Given the description of an element on the screen output the (x, y) to click on. 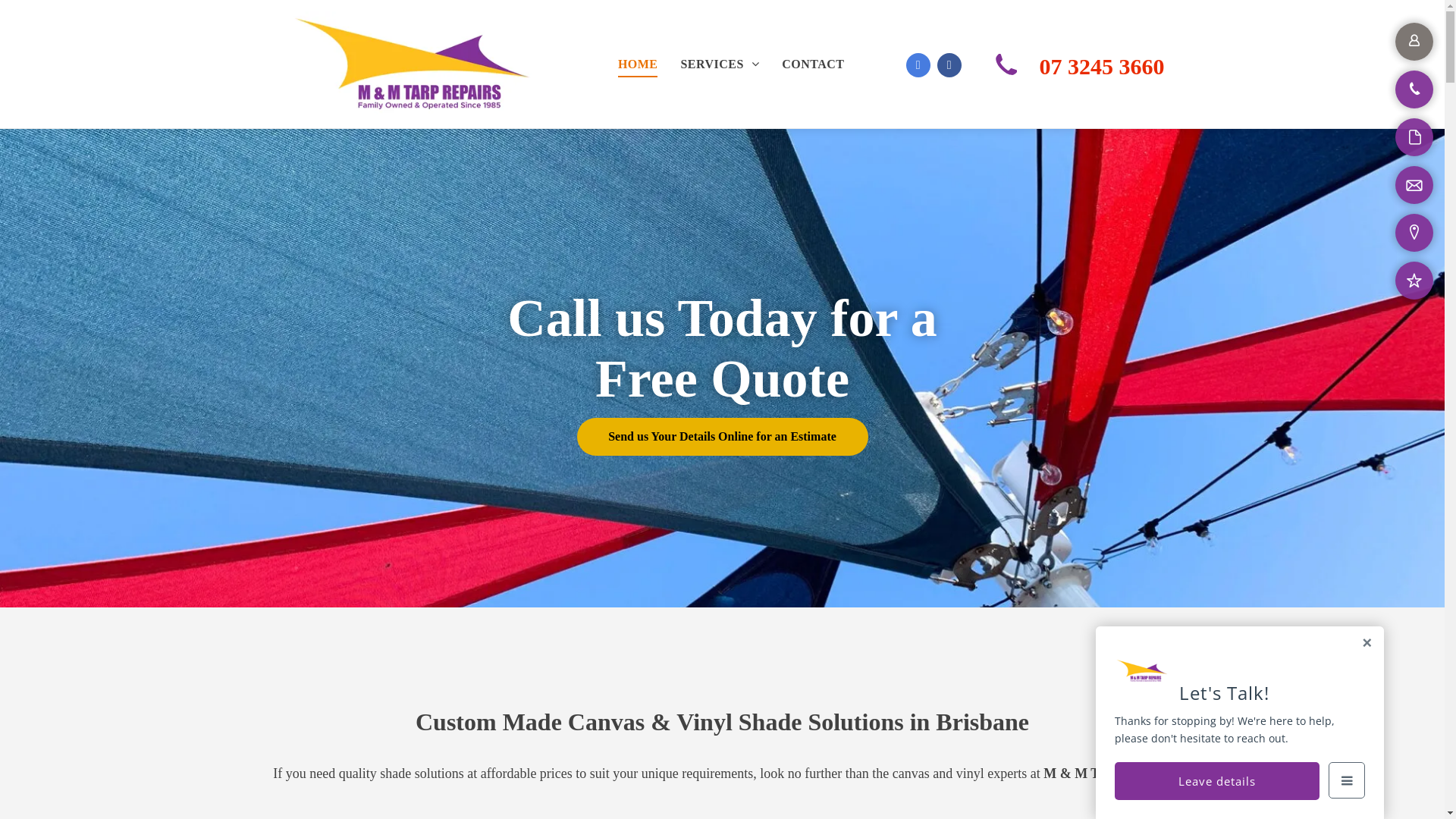
Send us Your Details Online for an Estimate Element type: text (721, 436)
CONTACT Element type: text (812, 64)
Leave details Element type: text (1216, 781)
SERVICES Element type: text (719, 64)
07 3245 3660 Element type: text (1101, 65)
M & M Tarp Repairs Element type: hover (412, 63)
HOME Element type: text (637, 64)
